Given the description of an element on the screen output the (x, y) to click on. 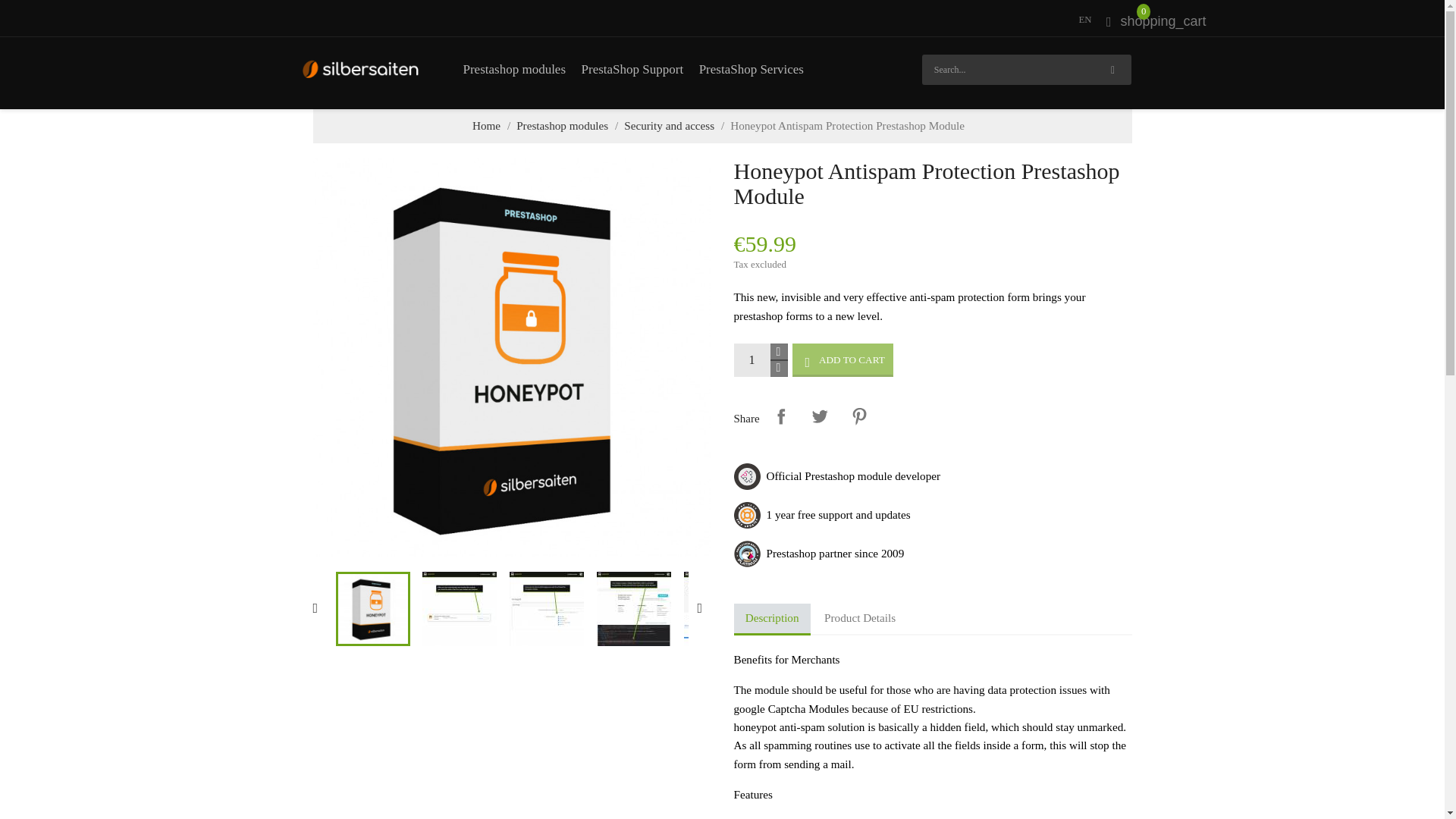
1 (751, 359)
Share (780, 416)
PrestaShop Support (632, 69)
Security and access (669, 124)
PrestaShop Services (751, 69)
Pinterest (859, 416)
Prestashop modules (562, 124)
Tweet (819, 416)
Description (771, 619)
EN (1084, 19)
Home (485, 124)
Tweet (819, 416)
Share (780, 416)
Product Details (859, 618)
Pinterest (859, 416)
